Given the description of an element on the screen output the (x, y) to click on. 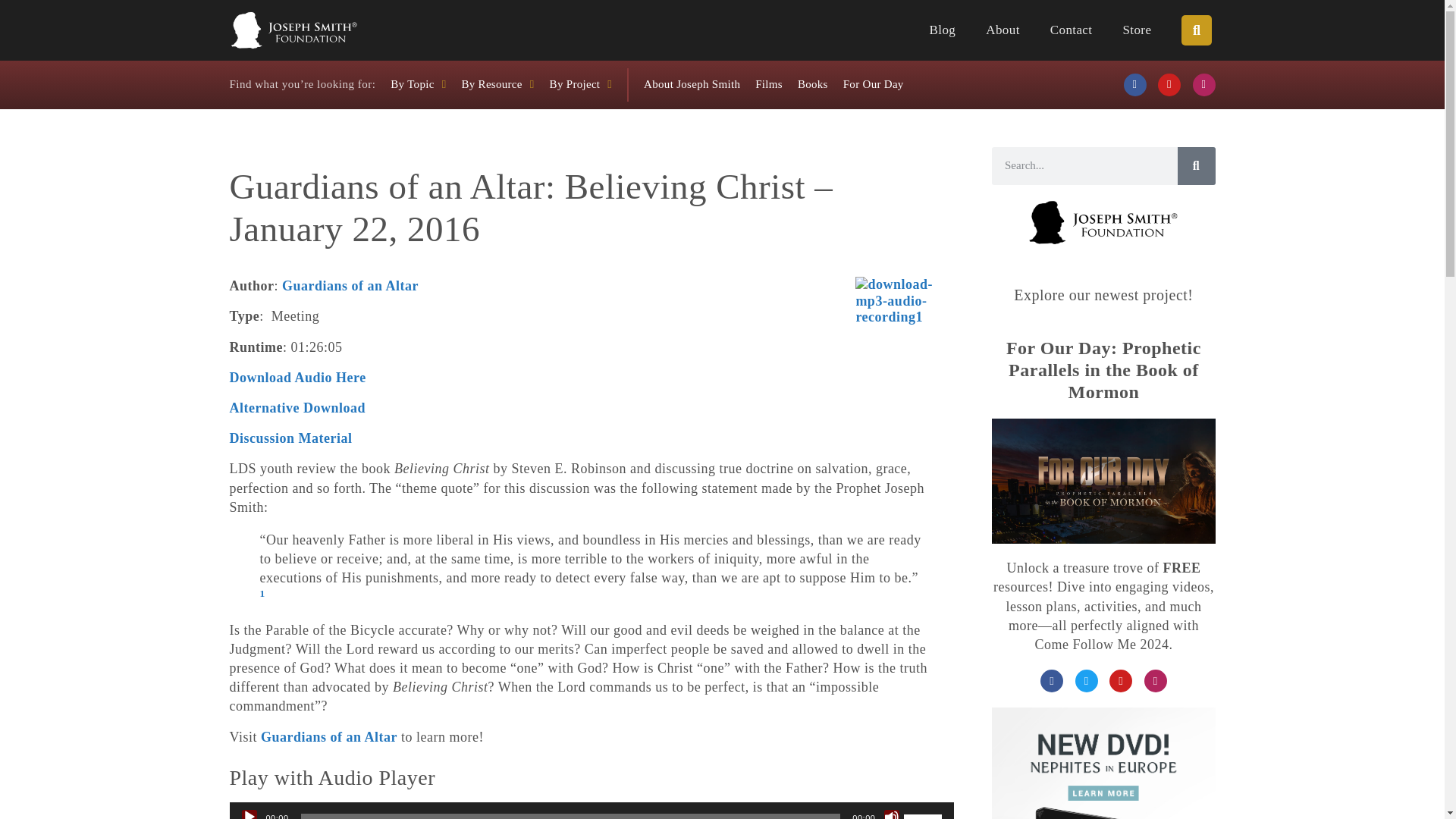
About (1002, 30)
Mute (891, 814)
Store (1136, 30)
Play (248, 814)
Contact (1071, 30)
